Given the description of an element on the screen output the (x, y) to click on. 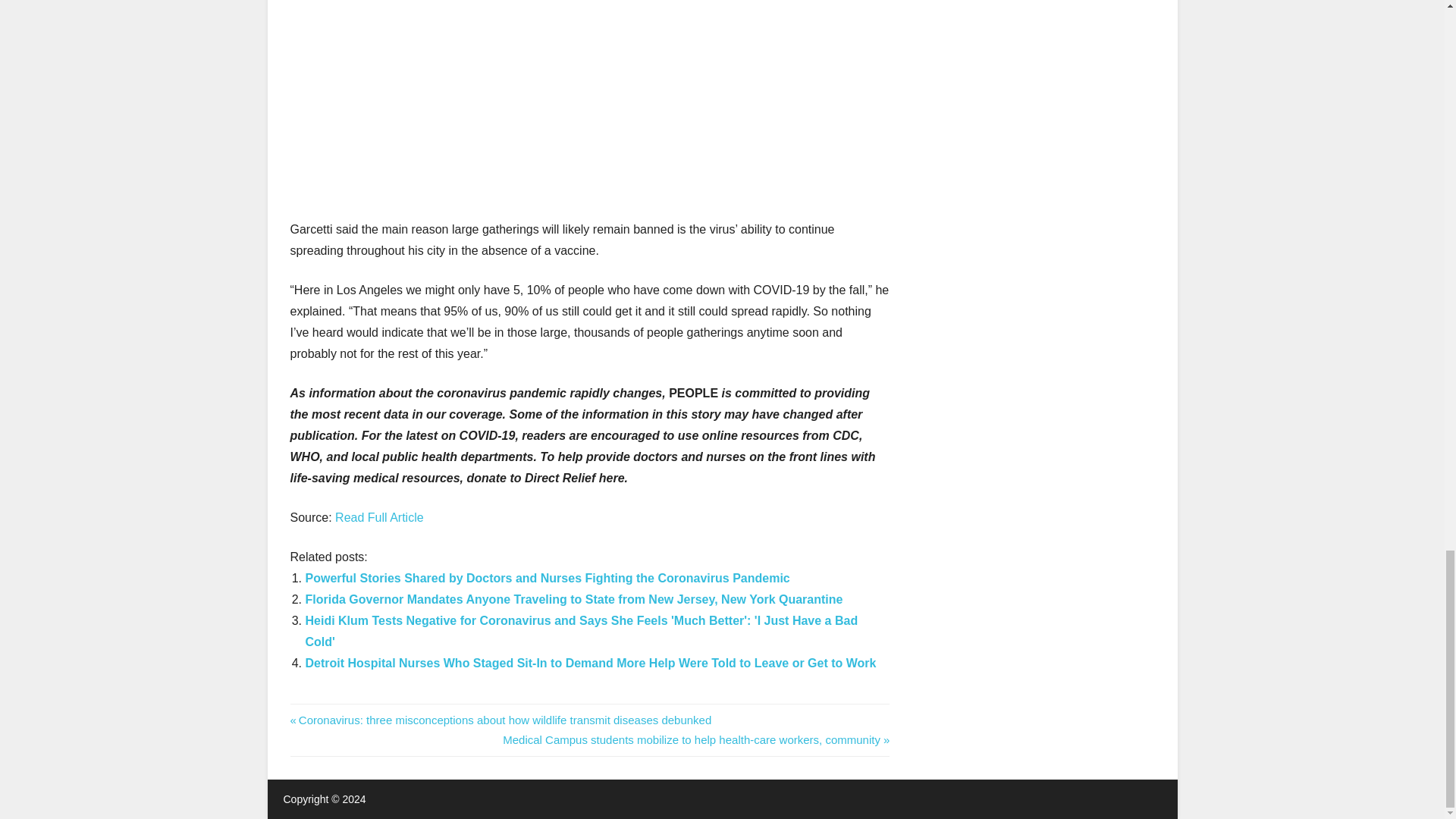
coronavirus (318, 712)
Read Full Article (378, 517)
